Given the description of an element on the screen output the (x, y) to click on. 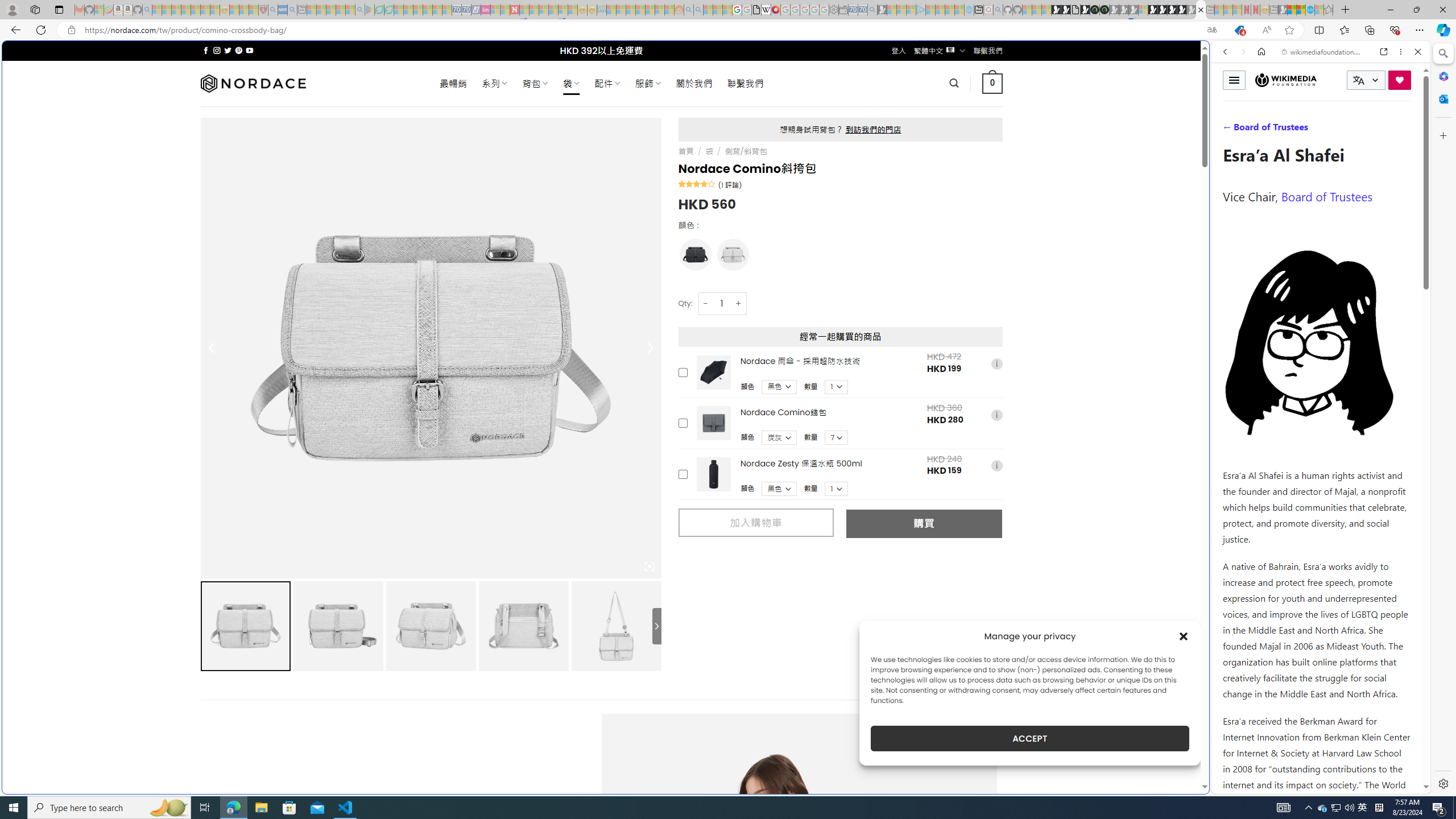
Target page - Wikipedia (766, 9)
Play Zoo Boom in your browser | Games from Microsoft Start (1065, 9)
Wiktionary (1315, 380)
